Given the description of an element on the screen output the (x, y) to click on. 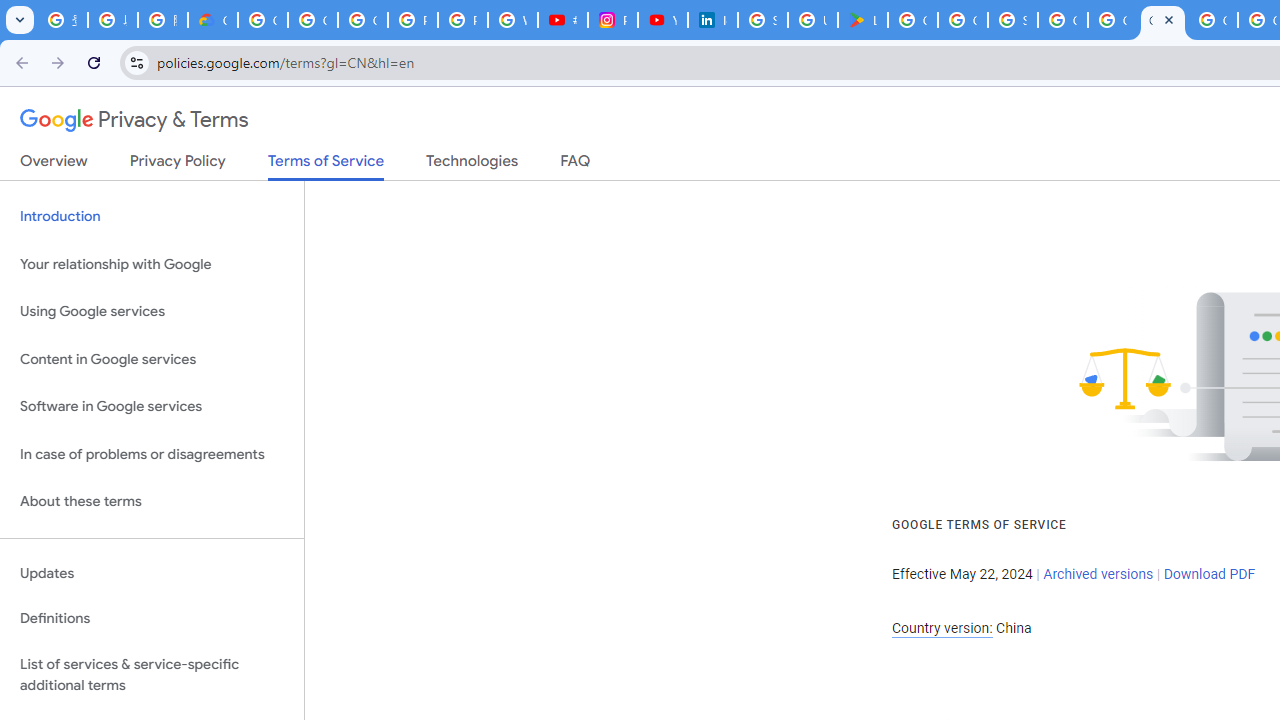
Software in Google services (152, 407)
Introduction (152, 216)
Google Cloud Platform (1062, 20)
Sign in - Google Accounts (1013, 20)
